Given the description of an element on the screen output the (x, y) to click on. 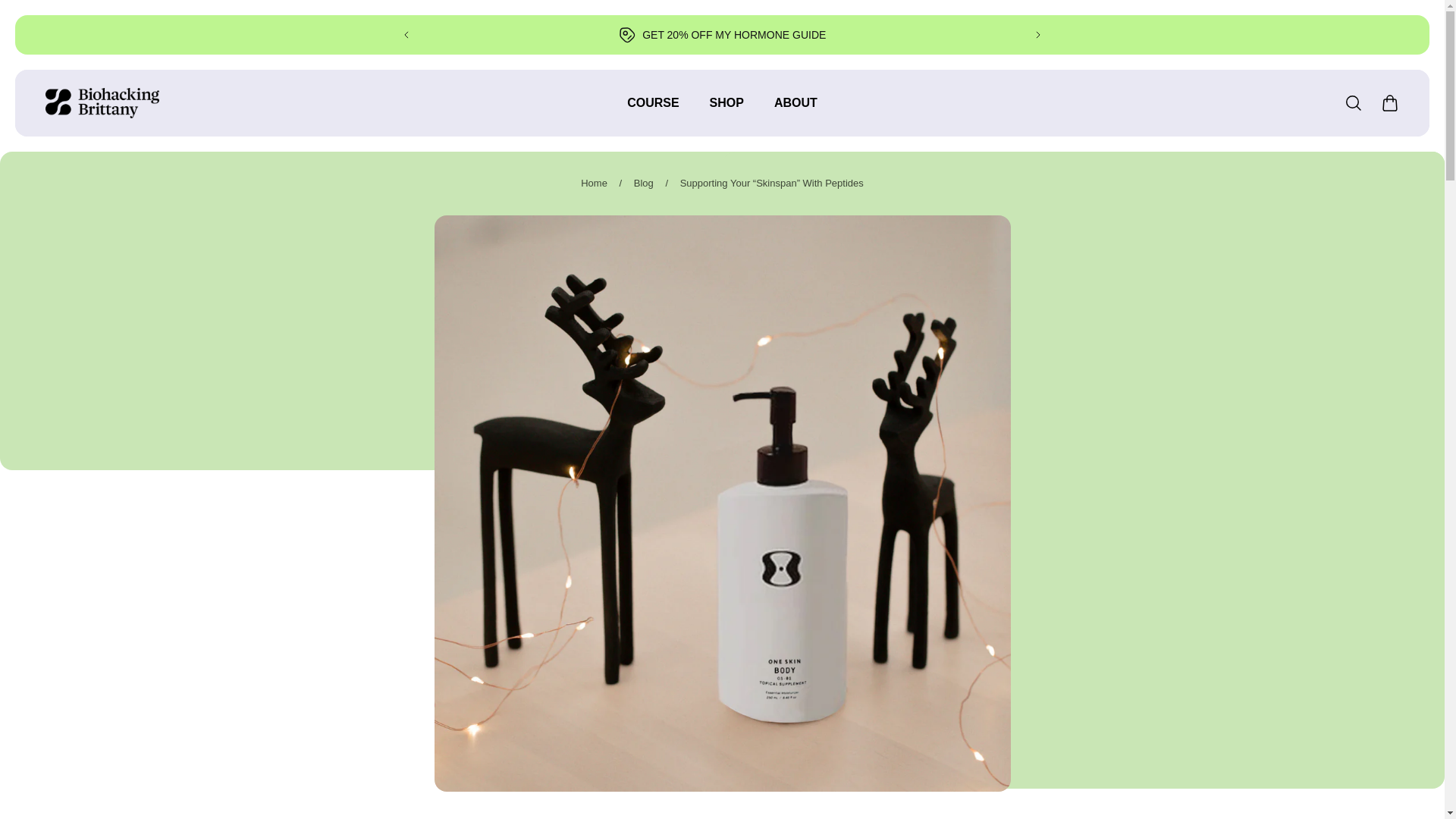
COURSE (652, 110)
Home (593, 183)
Blog (643, 183)
SHOP (726, 110)
ABOUT (795, 110)
